Given the description of an element on the screen output the (x, y) to click on. 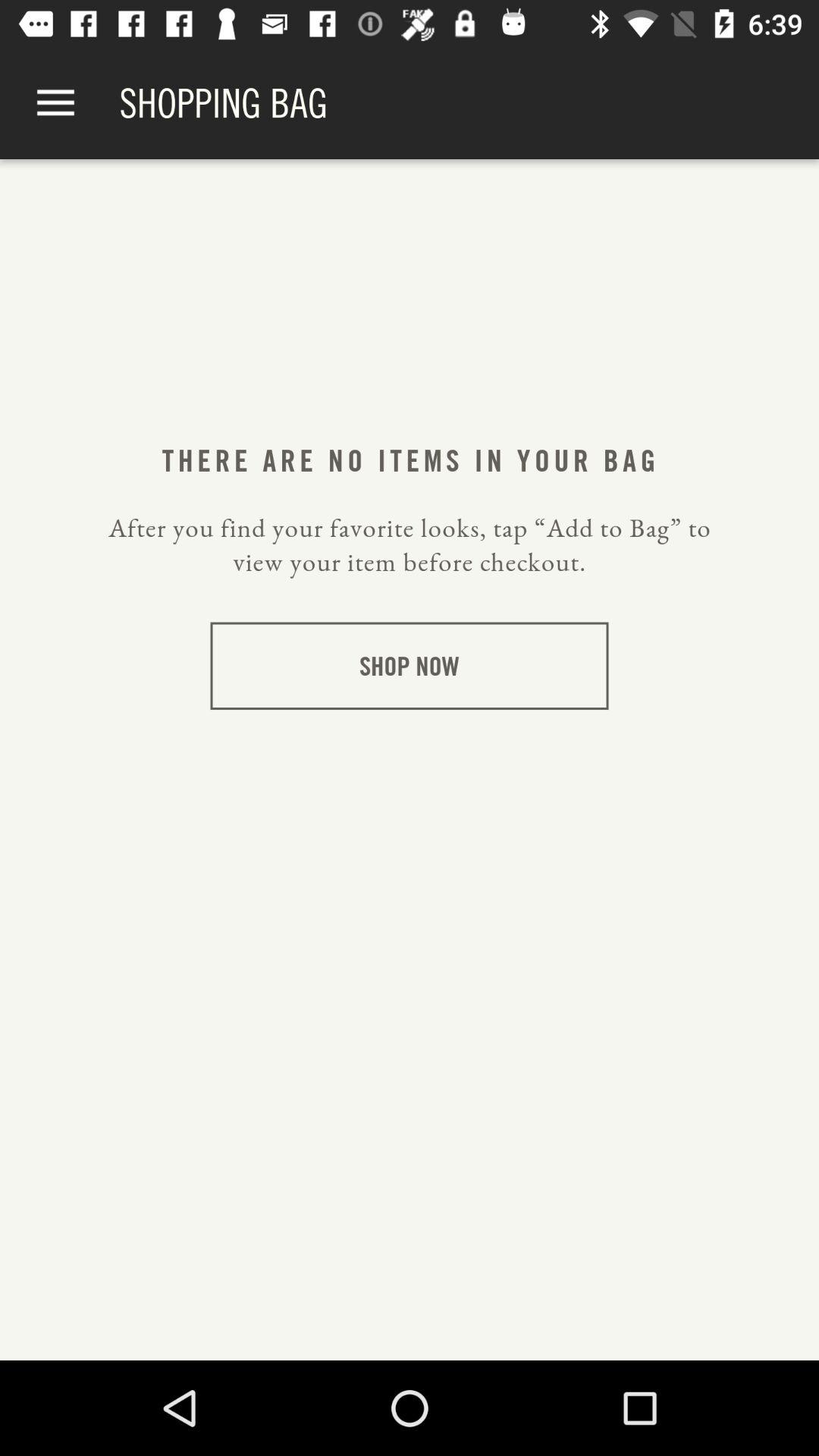
turn off item below the there are no (409, 544)
